Given the description of an element on the screen output the (x, y) to click on. 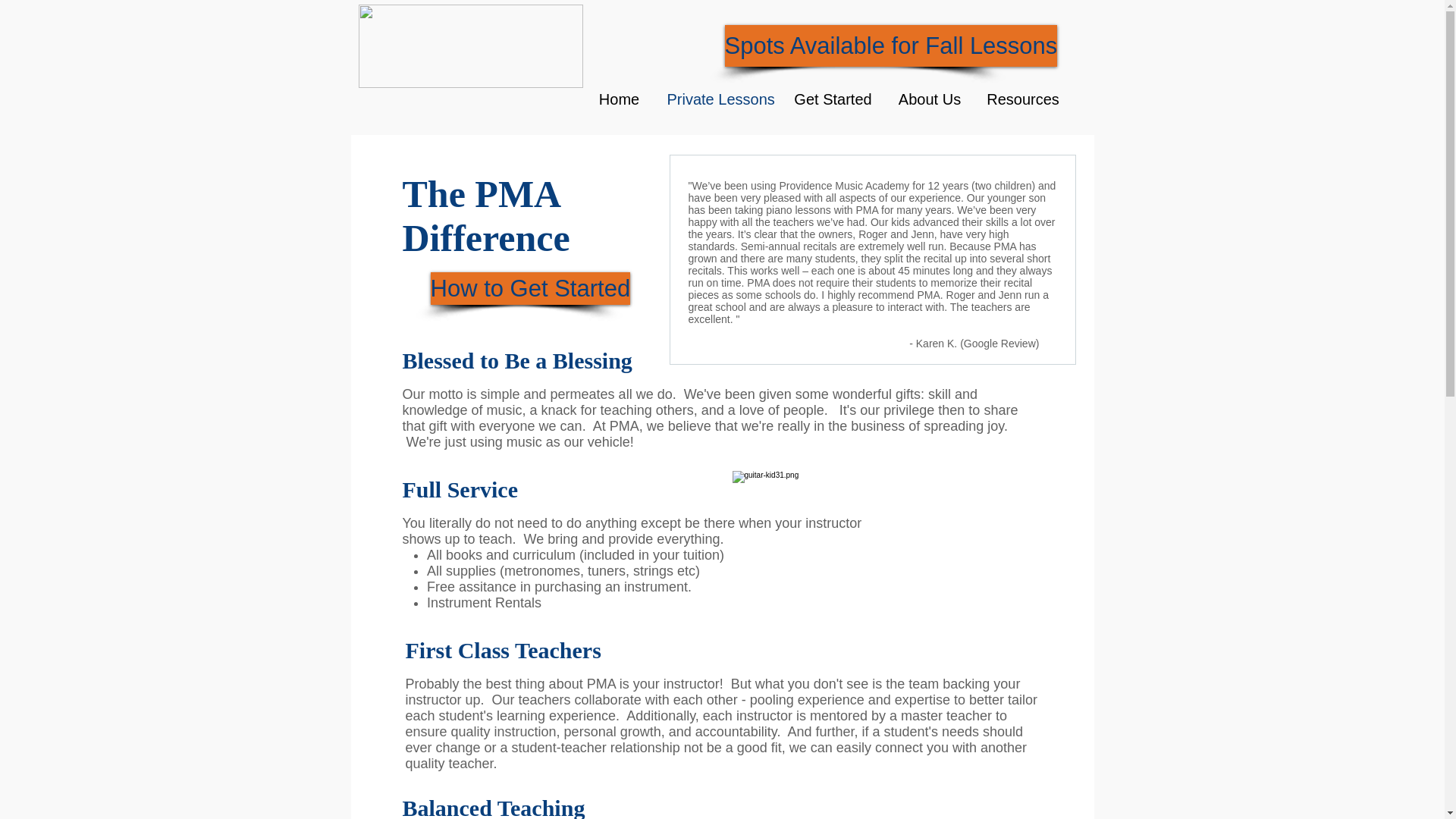
Get Started (831, 99)
About Us (928, 99)
Spots Available for Fall Lessons (891, 45)
Private Lessons (717, 99)
How to Get Started (530, 287)
Home (618, 99)
Resources (1023, 99)
